Given the description of an element on the screen output the (x, y) to click on. 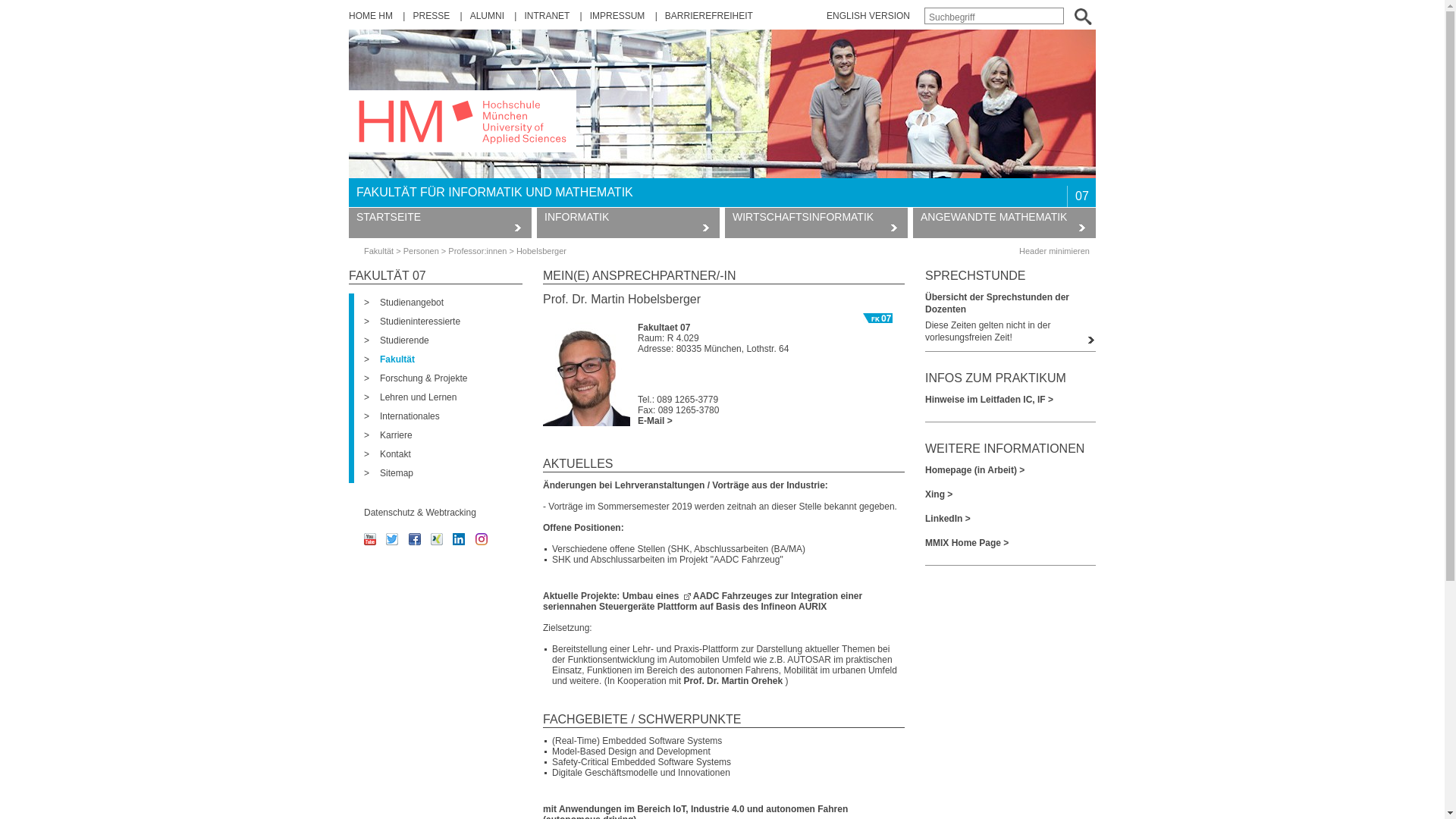
LinkedIn > Element type: text (1010, 518)
MMIX Home Page > Element type: text (1010, 542)
Datenschutz & Webtracking Element type: text (420, 512)
>Studienangebot Element type: text (403, 302)
WIRTSCHAFTSINFORMATIK Element type: text (815, 222)
E-Mail > Element type: text (654, 420)
INTRANET Element type: text (547, 15)
>Kontakt Element type: text (387, 453)
external link - new window: Werde unser Fan auf Facebook Element type: hover (414, 541)
external link - new window: Folge uns auf Twitter Element type: hover (391, 541)
Homepage (in Arbeit) > Element type: text (1010, 470)
external link - new window: Die HM auf LinkedIn Element type: hover (458, 541)
Xing > Element type: text (1010, 494)
PRESSE Element type: text (431, 15)
Hobelsberger Element type: text (541, 250)
ENGLISH VERSION Element type: text (868, 15)
IMPRESSUM Element type: text (618, 15)
HOME HM Element type: text (371, 15)
ANGEWANDTE MATHEMATIK Element type: text (1004, 222)
external link - new window: Die HM auf Instagram Element type: hover (481, 541)
ALUMNI Element type: text (488, 15)
STARTSEITE Element type: text (439, 222)
>Internationales Element type: text (401, 416)
>Studierende Element type: text (396, 340)
Sprechstunden der DozentInnen Element type: hover (1090, 337)
>Forschung & Projekte Element type: text (415, 378)
INFORMATIK Element type: text (627, 222)
Hinweise im Leitfaden IC, IF > Element type: text (1010, 399)
external link - new window: Die HM auf YouTube Element type: hover (370, 541)
Header minimieren Element type: text (1054, 250)
Personen Element type: text (421, 250)
>Sitemap Element type: text (388, 472)
>Karriere Element type: text (388, 434)
BARRIEREFREIHEIT Element type: text (709, 15)
>Lehren und Lernen Element type: text (410, 397)
Professor:innen Element type: text (477, 250)
>Studieninteressierte Element type: text (412, 321)
AADC Fahrzeuges Element type: text (729, 595)
Prof. Dr. Martin Orehek Element type: text (733, 680)
